Given the description of an element on the screen output the (x, y) to click on. 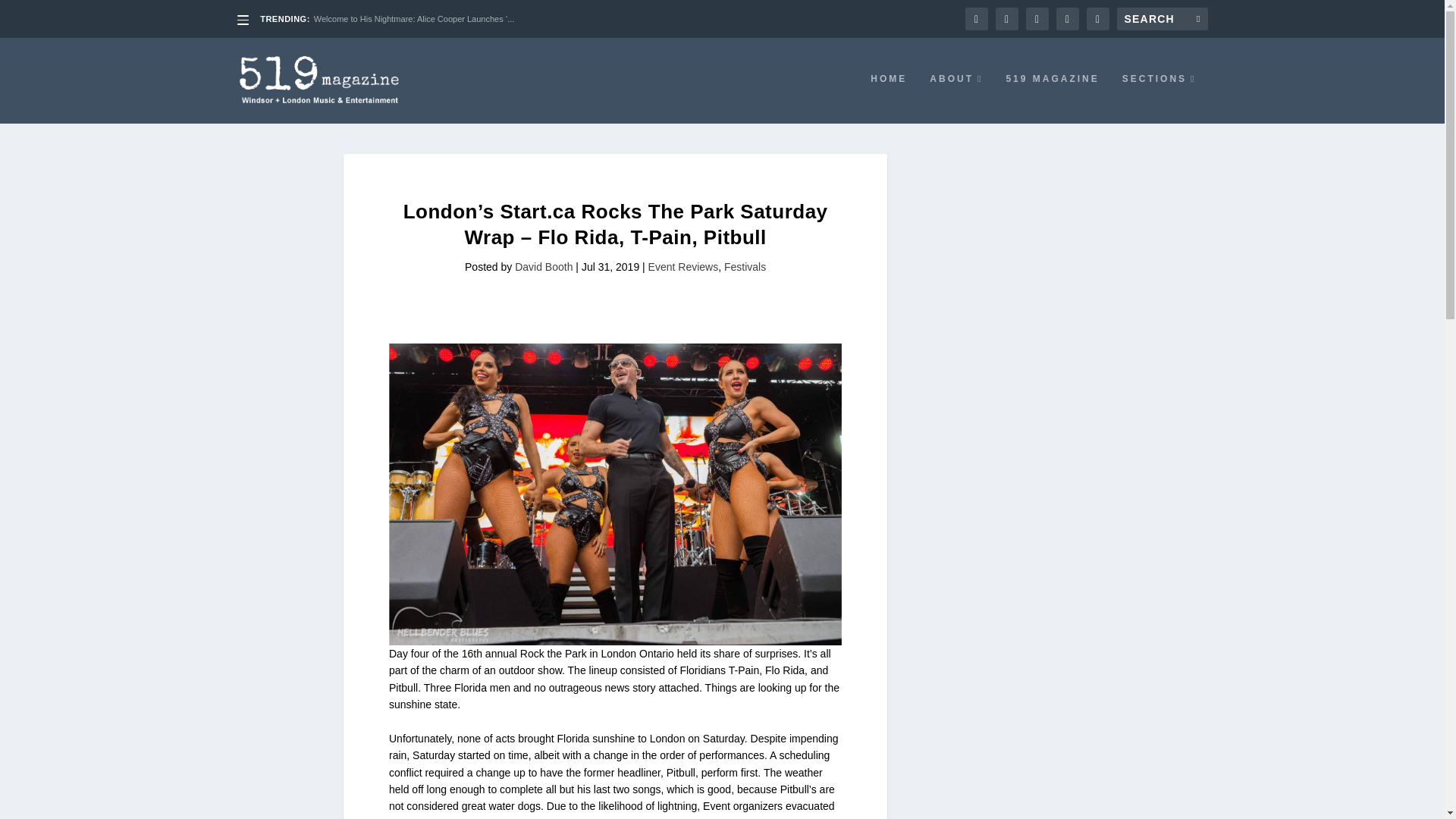
519 MAGAZINE (1052, 97)
SECTIONS (1159, 97)
Search for: (1161, 18)
ABOUT (956, 97)
Posts by David Booth (543, 266)
David Booth (543, 266)
Festivals (744, 266)
Event Reviews (683, 266)
